Given the description of an element on the screen output the (x, y) to click on. 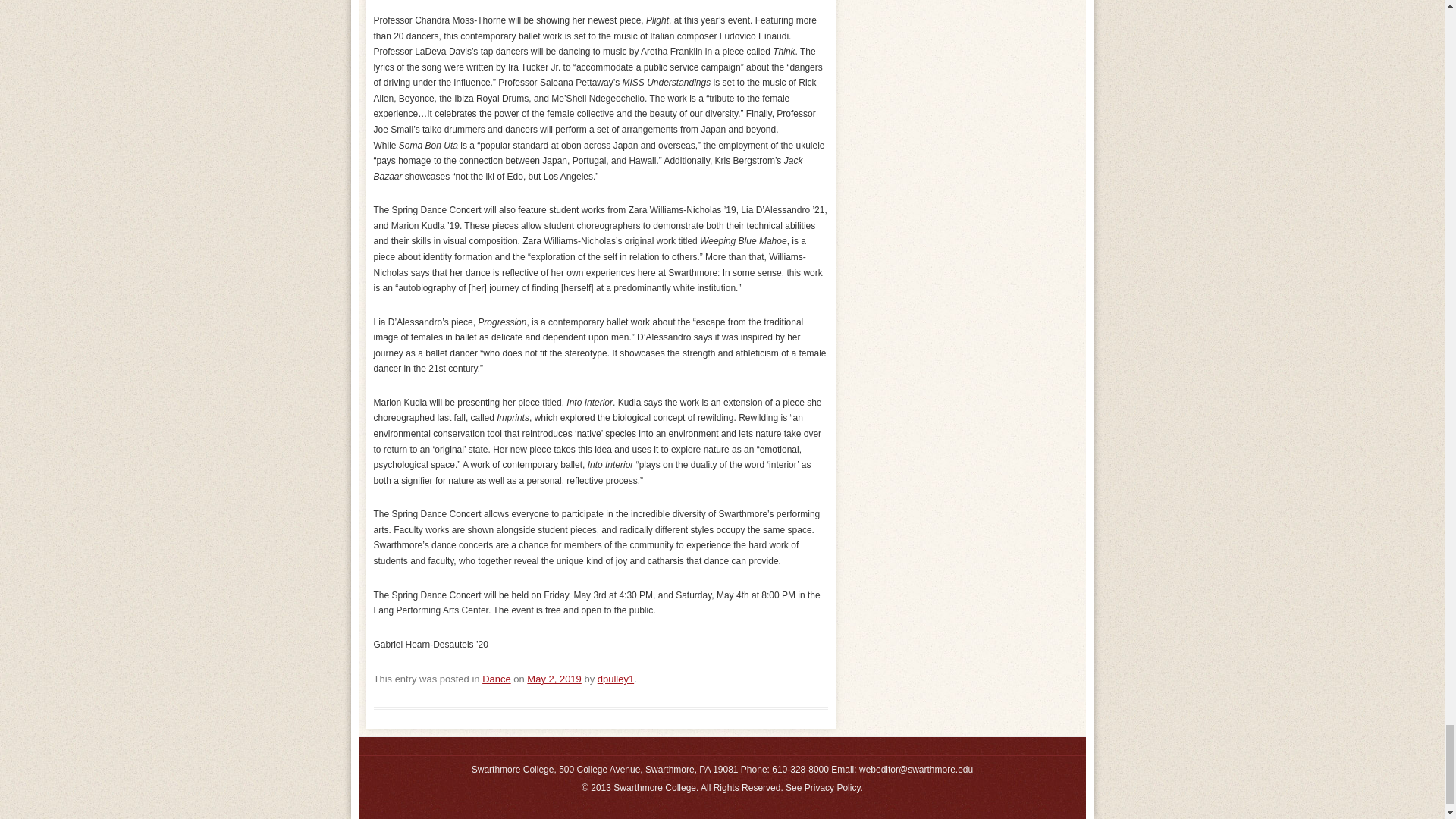
Dance (496, 678)
dpulley1 (614, 678)
May 2, 2019 (553, 678)
